Given the description of an element on the screen output the (x, y) to click on. 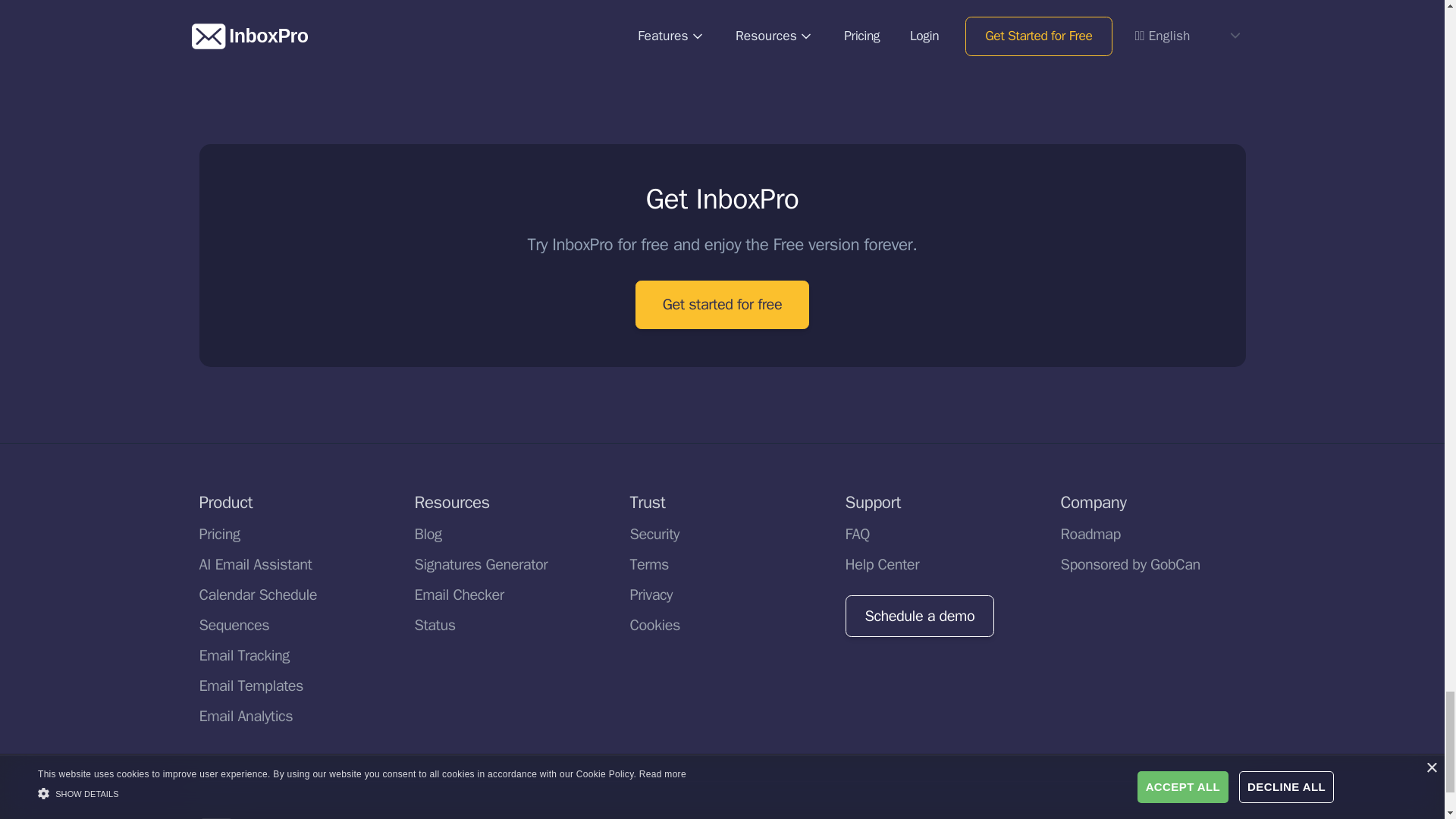
Pricing (219, 424)
Get started for free (721, 195)
Calendar Schedule (257, 484)
Email Tracking (243, 545)
AI Email Assistant (254, 454)
Sequences (233, 515)
